Given the description of an element on the screen output the (x, y) to click on. 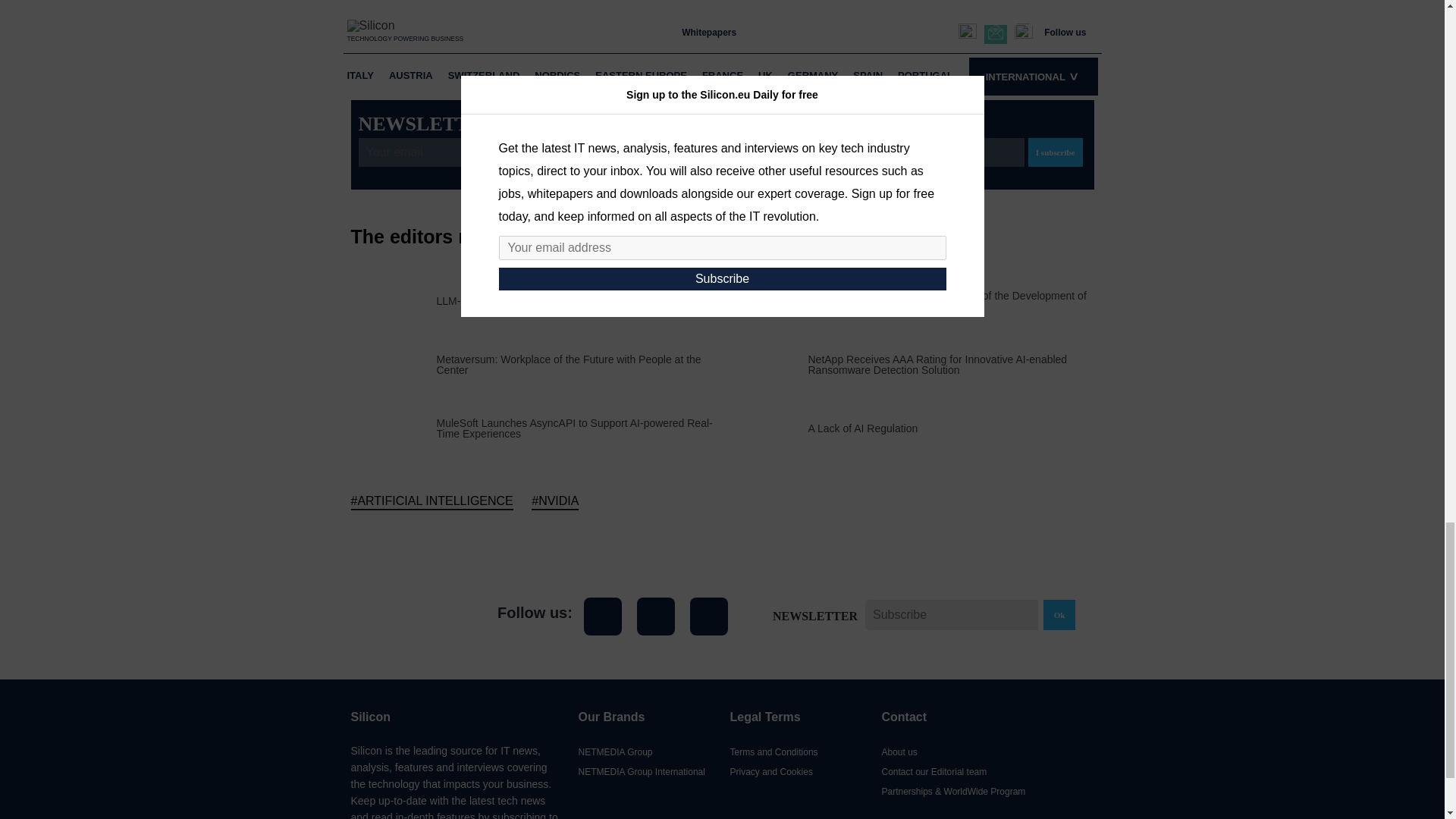
Silicon (408, 615)
LLM-Benchmark for CRM (496, 300)
A Lack of AI Regulation (863, 428)
